Given the description of an element on the screen output the (x, y) to click on. 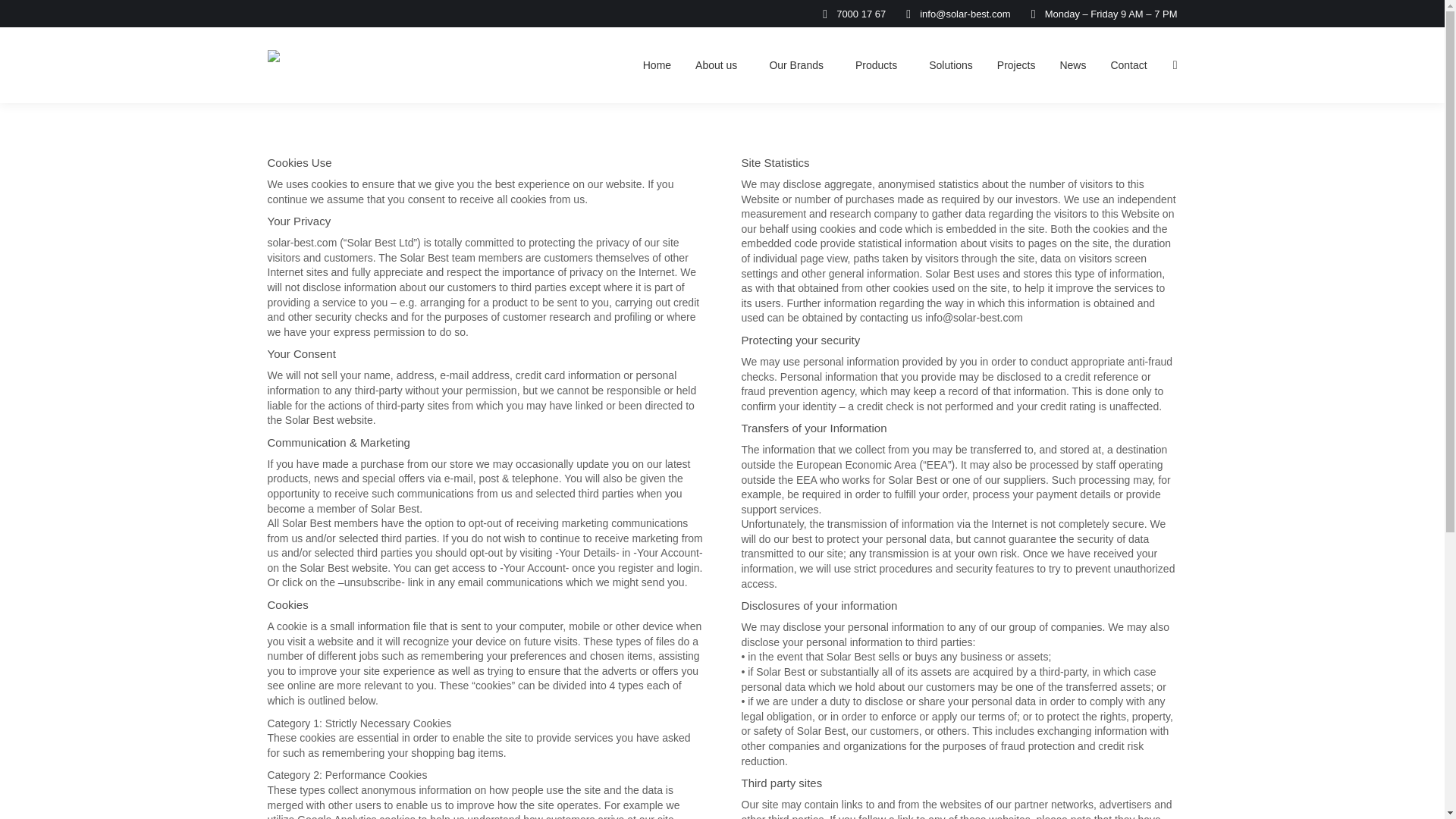
7000 17 67 (850, 12)
Go! (24, 16)
Products (879, 64)
Projects (1016, 64)
About us (720, 64)
Our Brands (799, 64)
Solutions (950, 64)
